Given the description of an element on the screen output the (x, y) to click on. 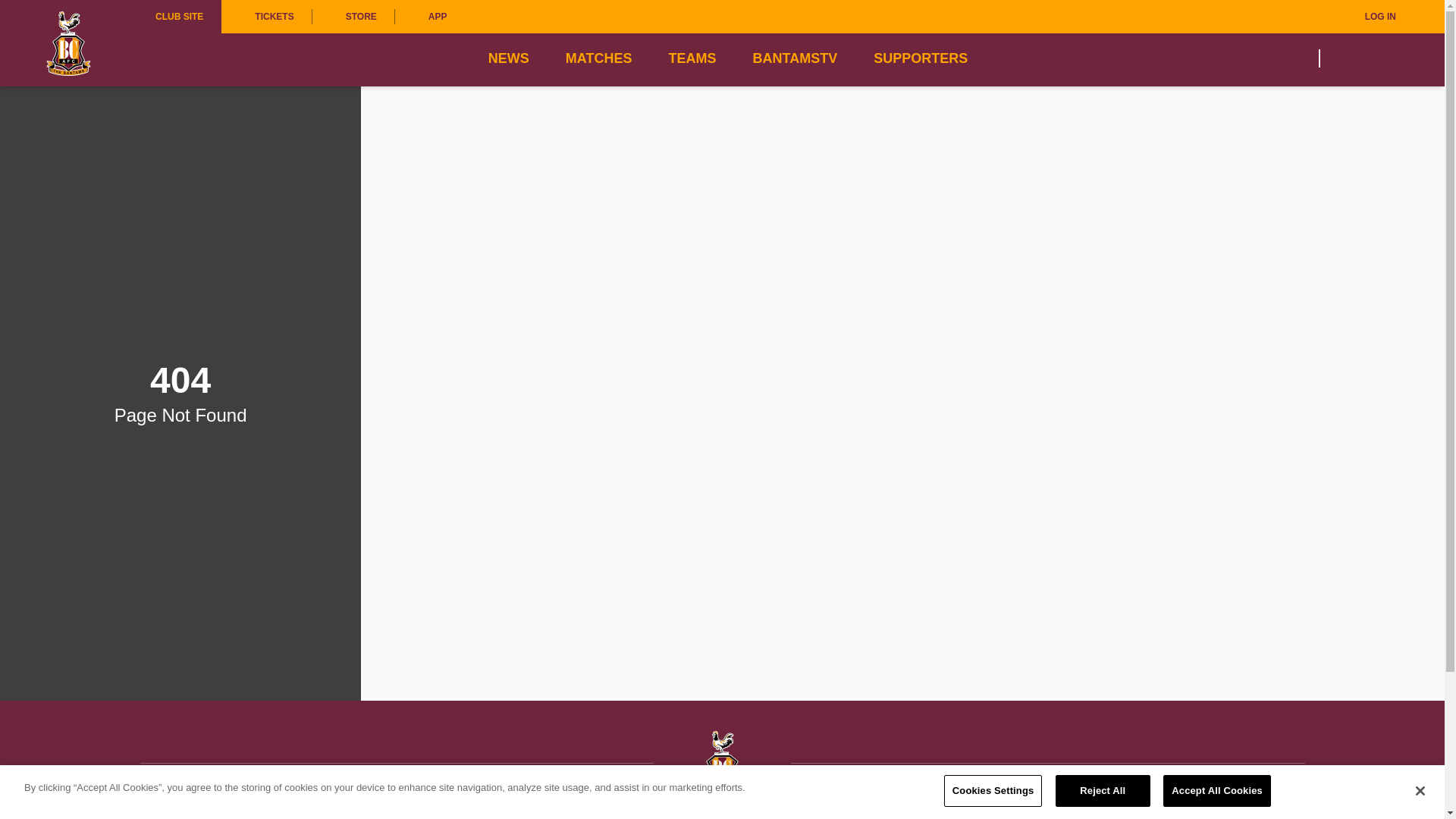
LOG IN (1369, 16)
CLUB SITE (178, 16)
BANTAMSTV (794, 58)
SUPPORTERS (920, 58)
MATCHES (598, 58)
APP (429, 16)
Accept All Cookies (1217, 790)
Cookies Settings (992, 790)
TICKETS (266, 16)
Reject All (1102, 790)
